Given the description of an element on the screen output the (x, y) to click on. 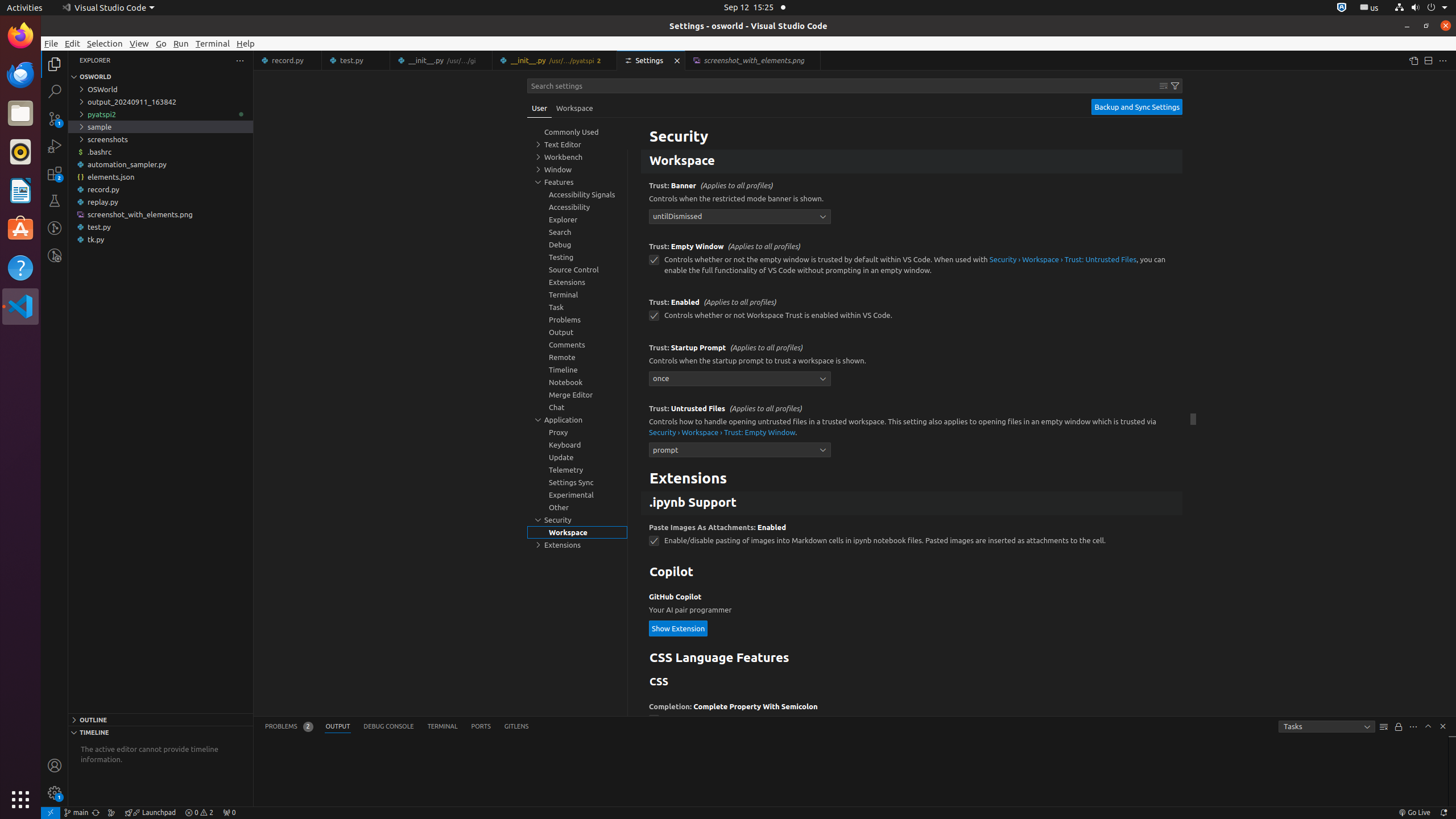
security.workspace.trust.emptyWindow Element type: check-box (653, 259)
pyatspi2 Element type: tree-item (160, 114)
Split Editor Right (Ctrl+\) [Alt] Split Editor Down Element type: push-button (1427, 60)
once Element type: menu-item (739, 378)
Search, group Element type: tree-item (577, 231)
